Given the description of an element on the screen output the (x, y) to click on. 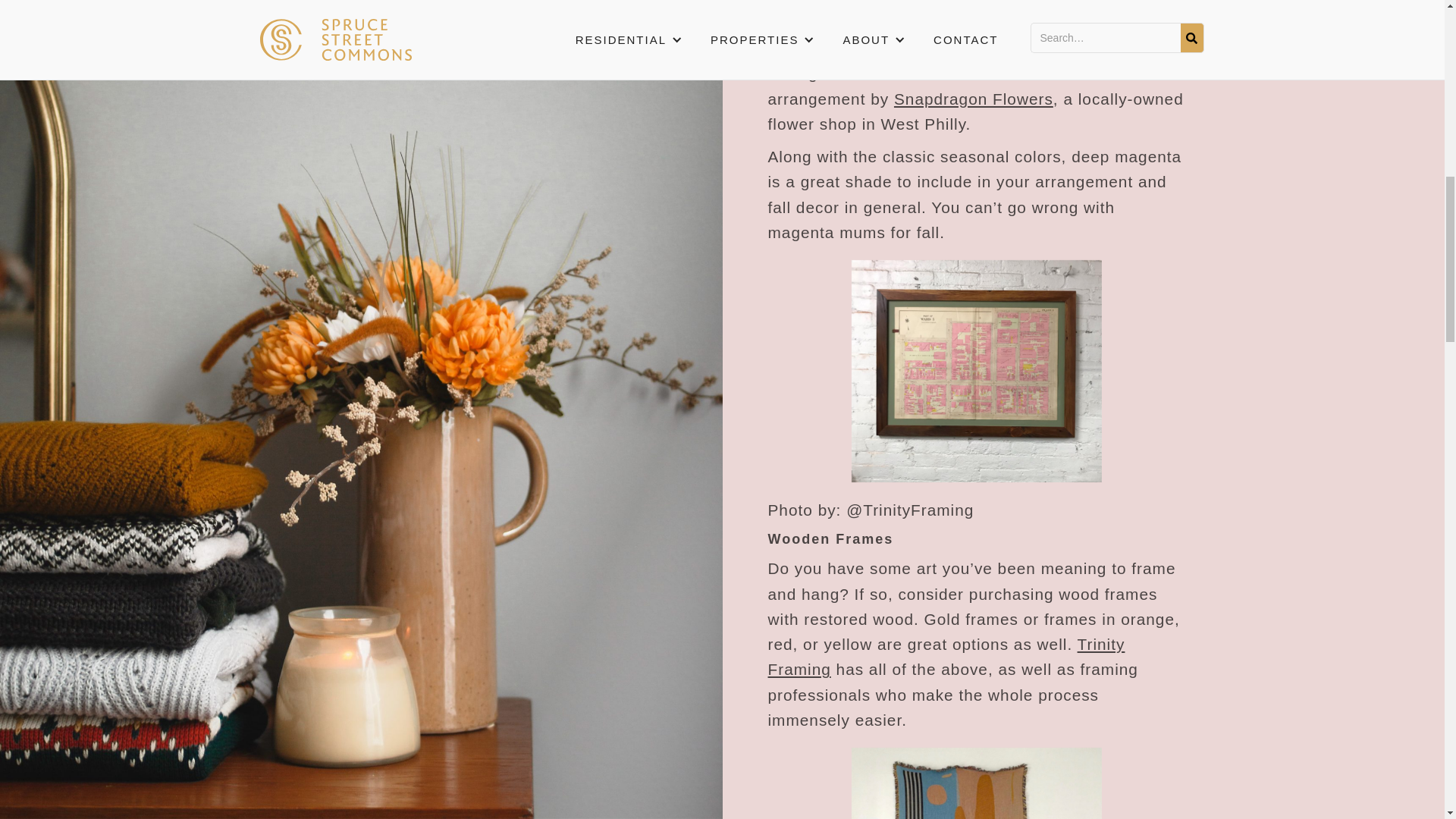
Snapdragon Flowers (972, 98)
Trinity Framing (945, 656)
